Given the description of an element on the screen output the (x, y) to click on. 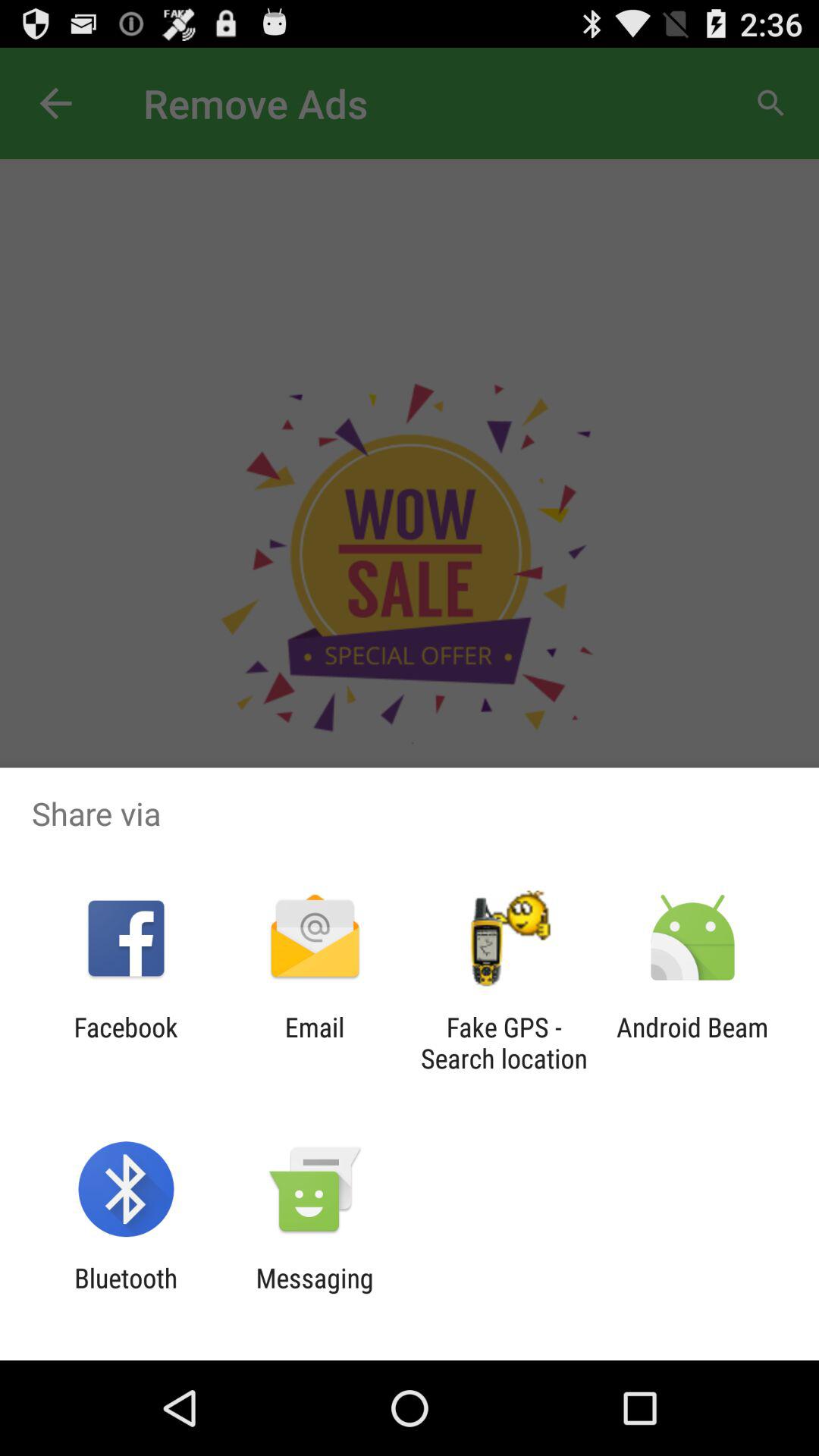
click app next to the messaging icon (125, 1293)
